Given the description of an element on the screen output the (x, y) to click on. 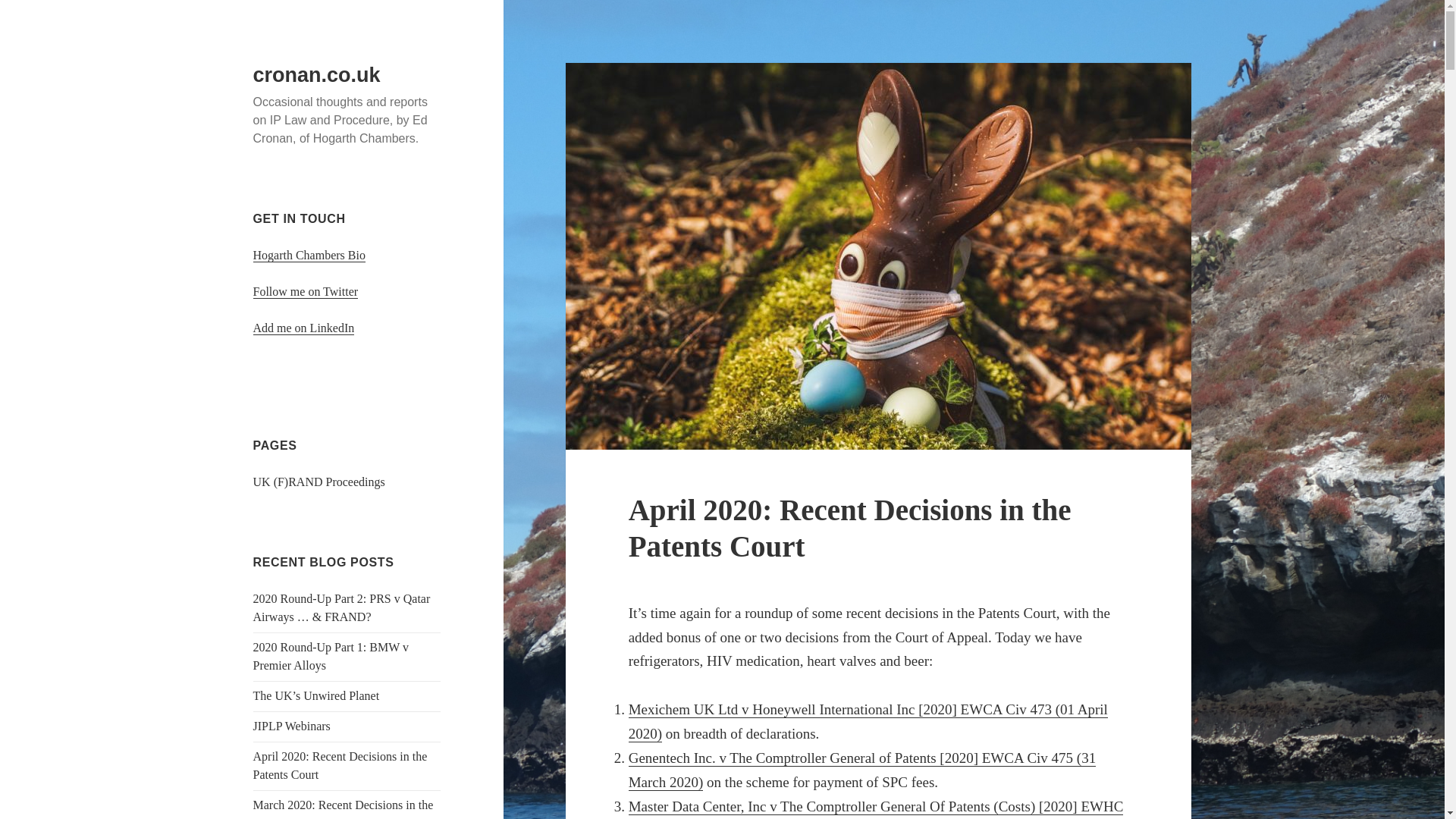
cronan.co.uk (316, 74)
Follow me on Twitter (305, 291)
Hogarth Chambers Bio (309, 255)
JIPLP Webinars (291, 725)
April 2020: Recent Decisions in the Patents Court (340, 765)
2020 Round-Up Part 1: BMW v Premier Alloys (331, 655)
March 2020: Recent Decisions in the Patents Court (343, 808)
Add me on LinkedIn (304, 327)
